Given the description of an element on the screen output the (x, y) to click on. 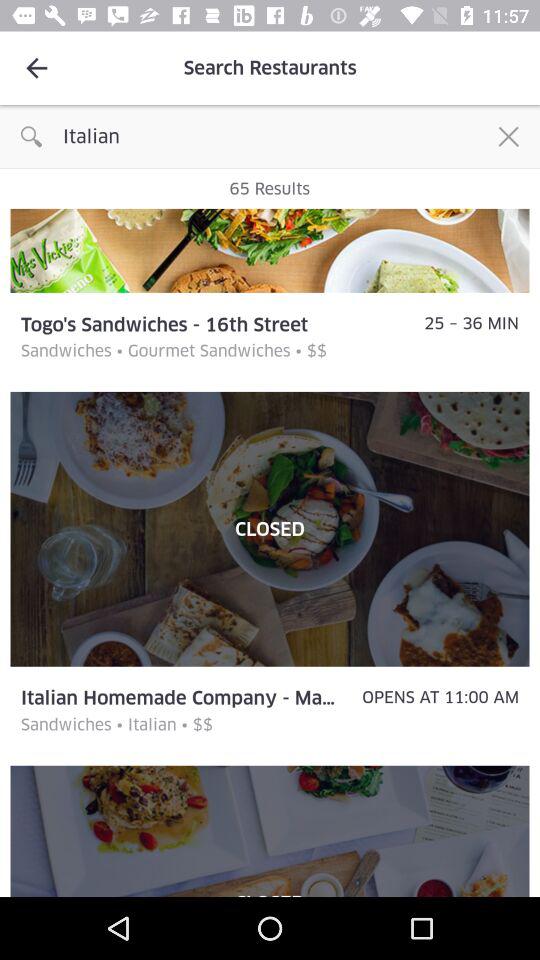
turn on the icon to the left of search restaurants (36, 68)
